Given the description of an element on the screen output the (x, y) to click on. 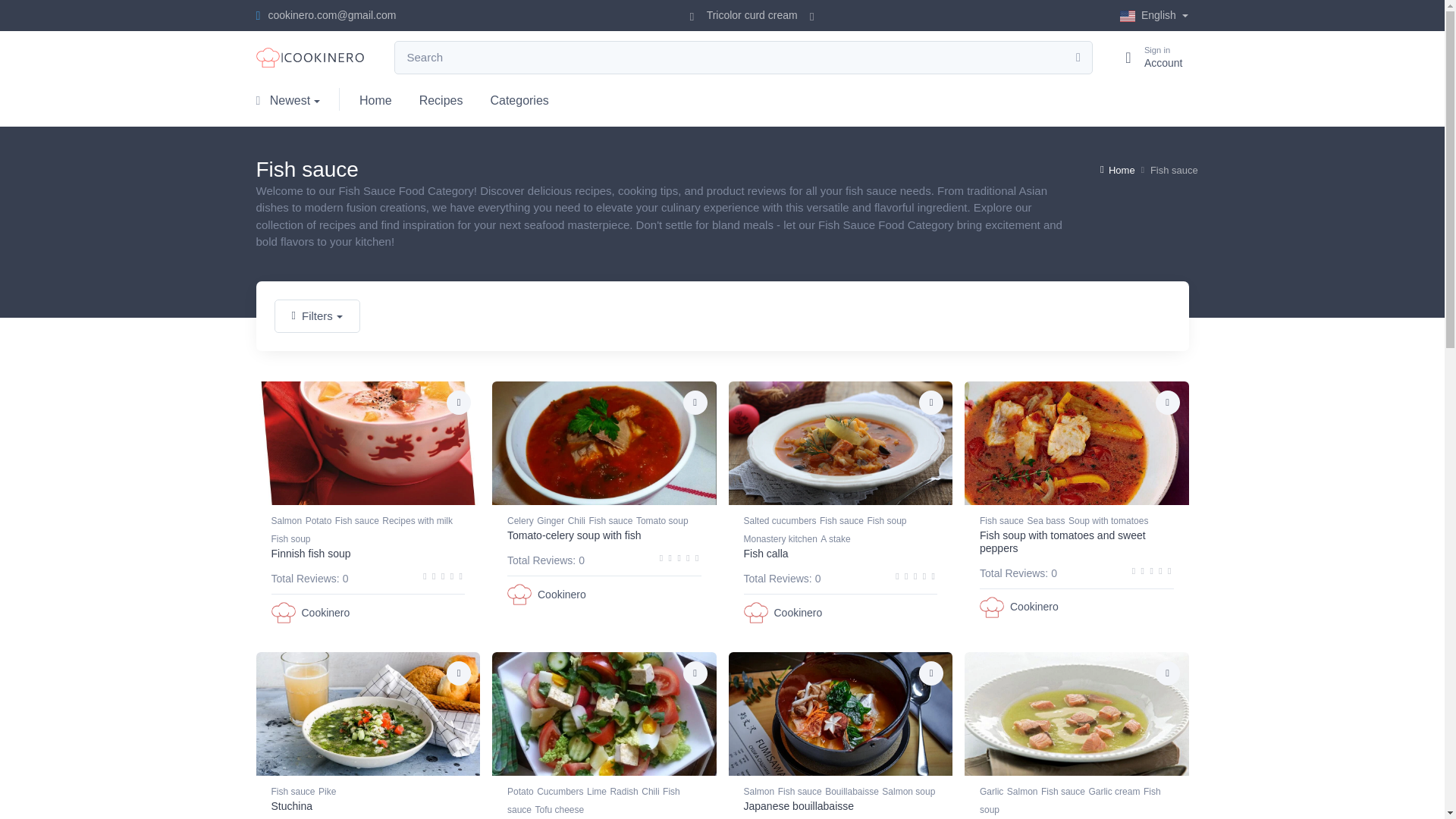
Recipes (1146, 57)
English (441, 98)
Home (1154, 15)
Tricolor curd cream (376, 98)
Newest (751, 15)
